Given the description of an element on the screen output the (x, y) to click on. 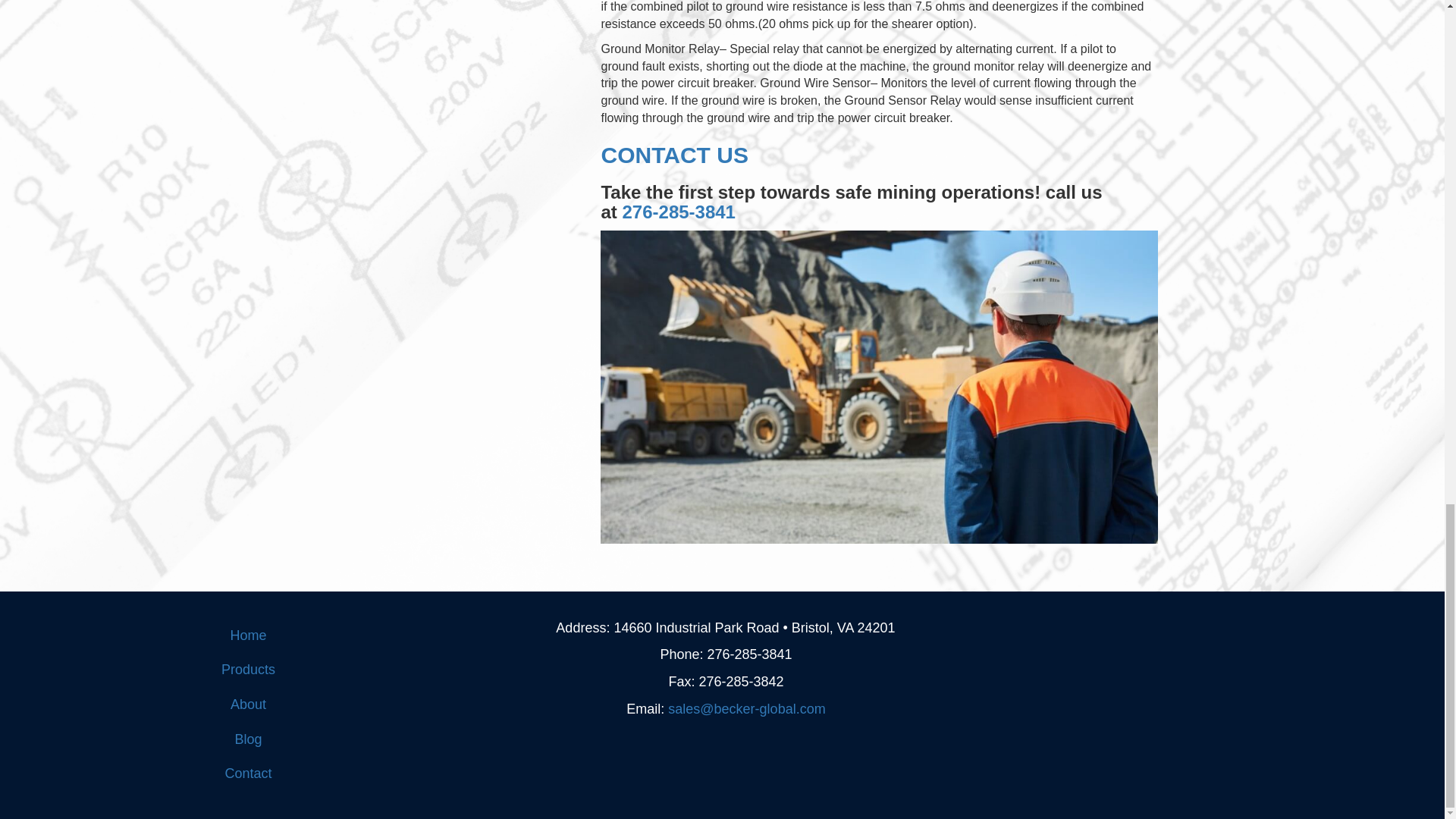
Contact (248, 773)
CONTACT US (673, 154)
Home (248, 636)
About (248, 704)
Products (248, 669)
Blog (248, 739)
276-285-3841 (678, 211)
